Given the description of an element on the screen output the (x, y) to click on. 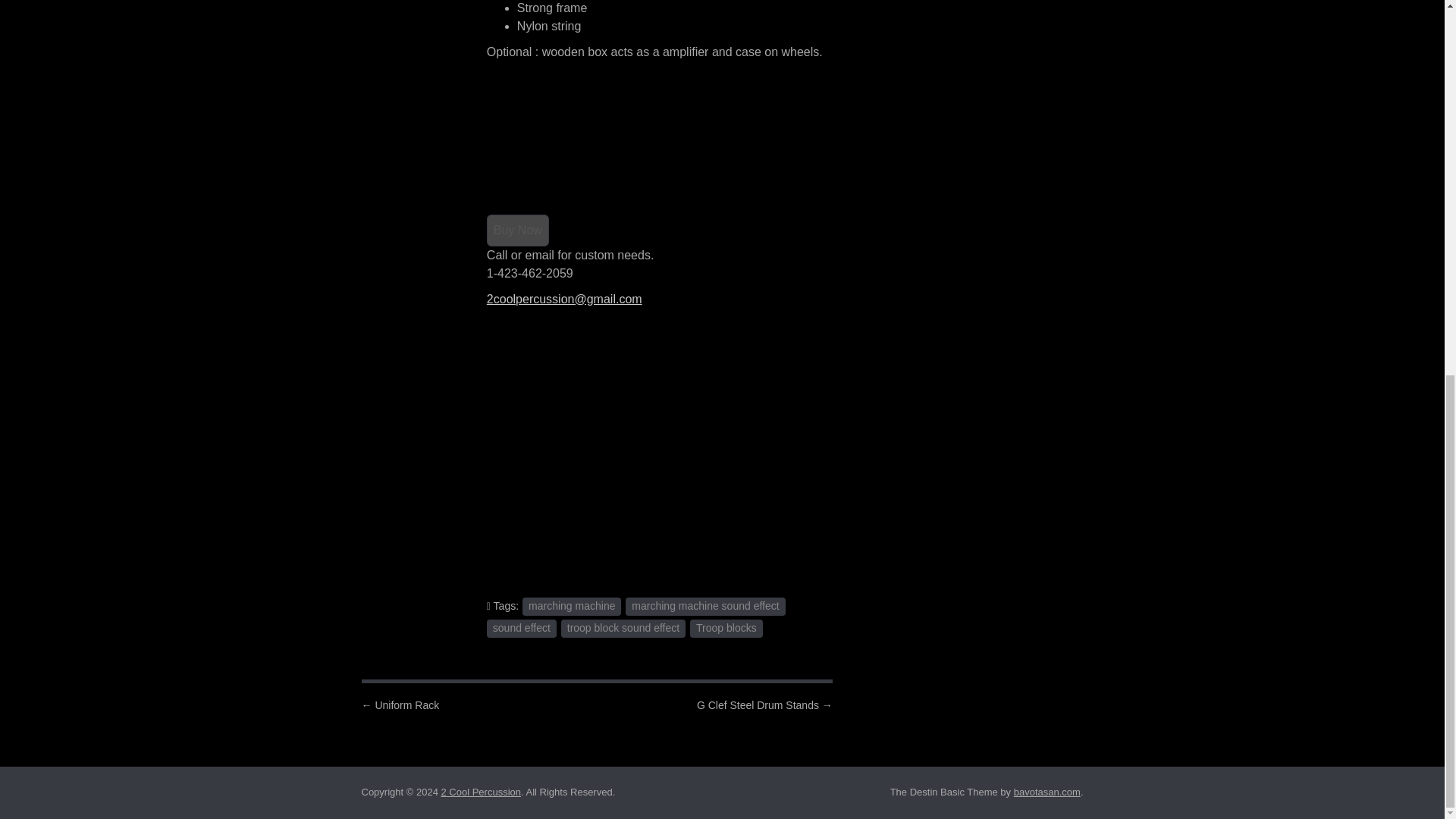
Buy Now (517, 230)
troop block sound effect (622, 628)
Troop blocks (726, 628)
bavotasan.com (1046, 791)
sound effect (521, 628)
2 Cool Percussion (481, 791)
marching machine (571, 606)
marching machine sound effect (705, 606)
Buy Now (517, 230)
